Given the description of an element on the screen output the (x, y) to click on. 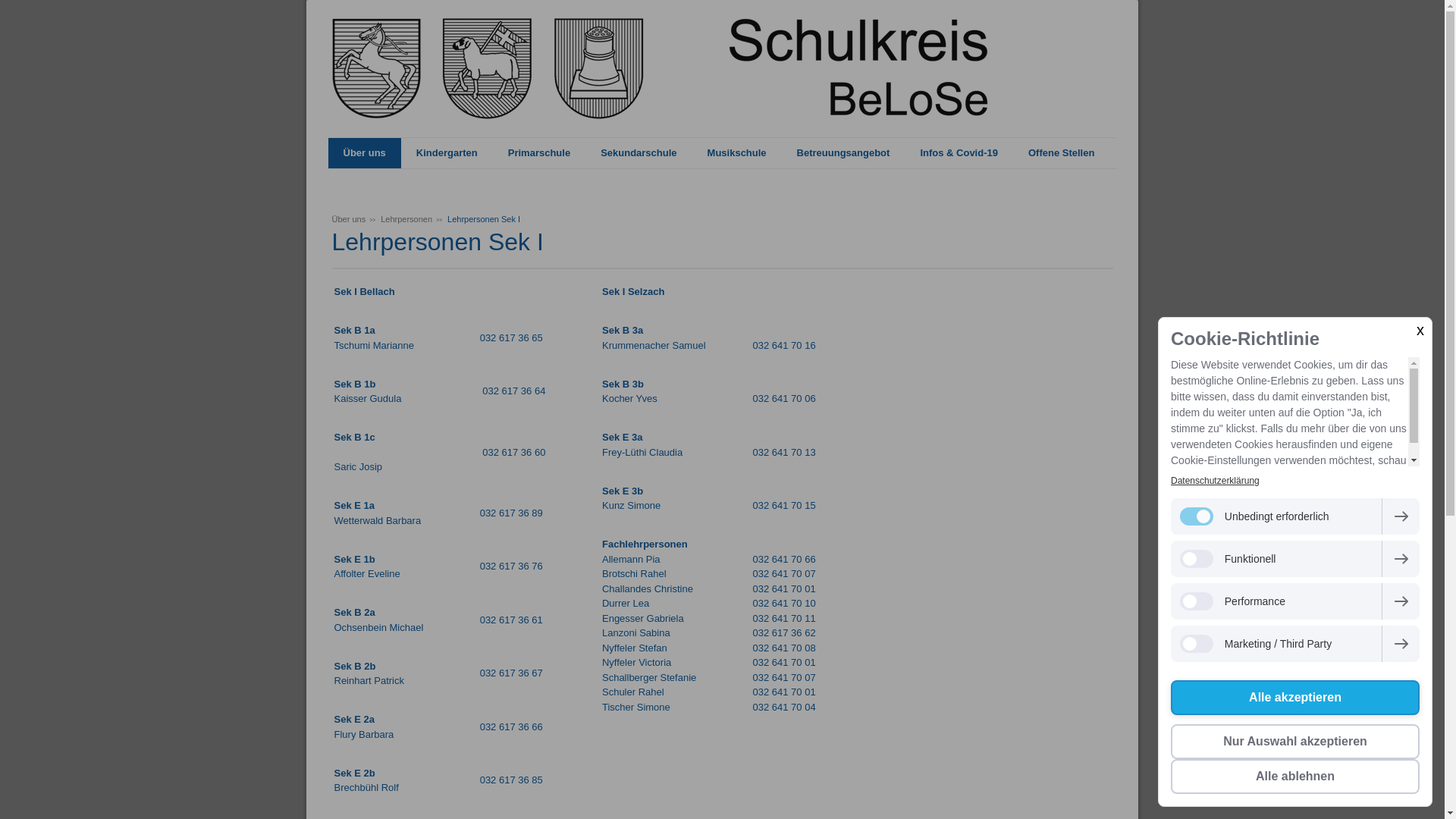
Lehrpersonen Sek I Element type: text (483, 217)
Offene Stellen Element type: text (1061, 153)
Alle akzeptieren Element type: text (1294, 697)
Kindergarten Element type: text (446, 153)
Sekundarschule Element type: text (638, 153)
Primarschule Element type: text (538, 153)
Infos & Covid-19 Element type: text (958, 153)
Betreuungsangebot Element type: text (843, 153)
Nur Auswahl akzeptieren Element type: text (1294, 741)
Lehrpersonen Element type: text (406, 217)
Musikschule Element type: text (736, 153)
Alle ablehnen Element type: text (1294, 776)
